Given the description of an element on the screen output the (x, y) to click on. 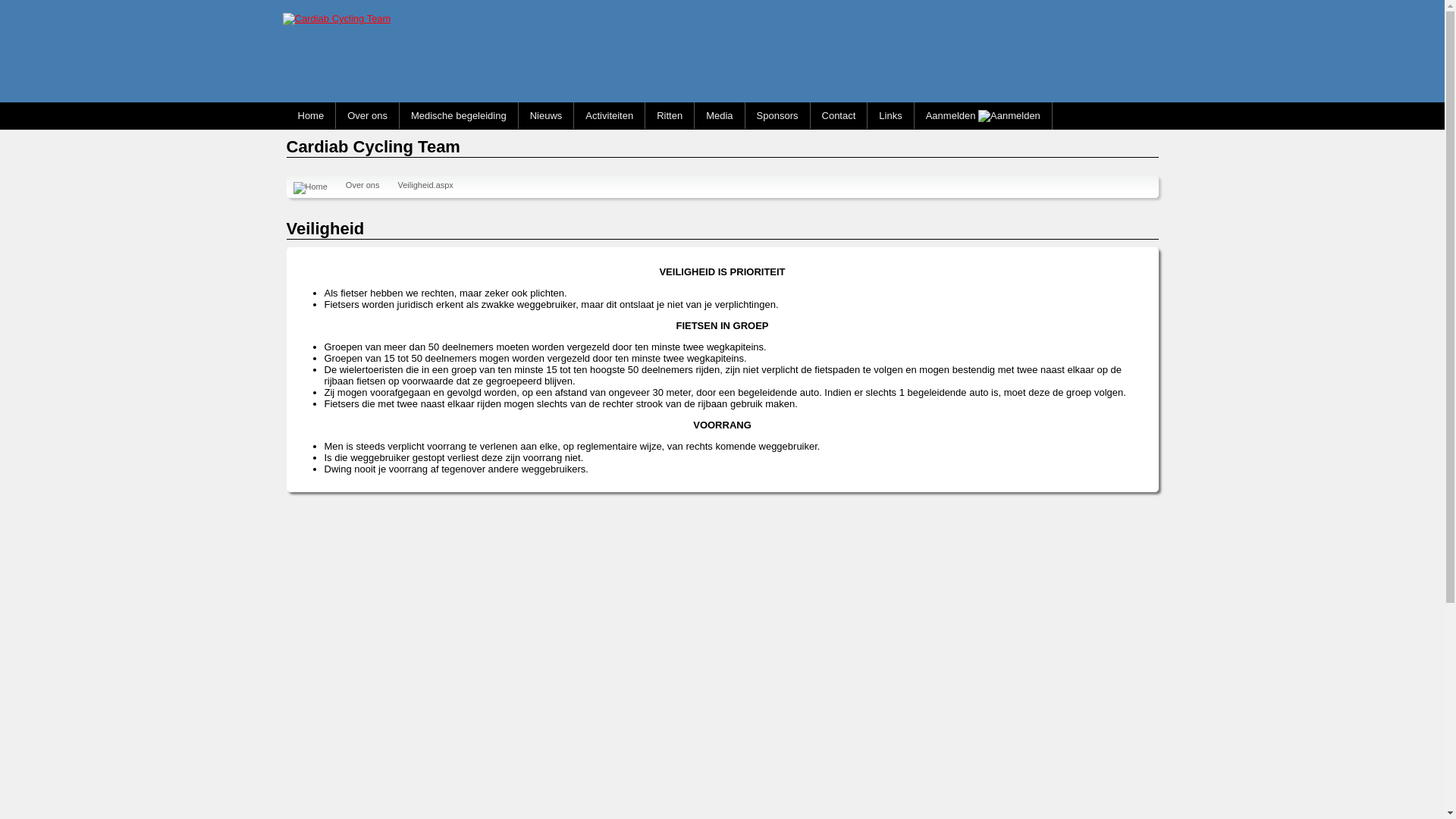
Sponsors Element type: text (777, 115)
Over ons Element type: text (366, 115)
Nieuws Element type: text (546, 115)
Ritten Element type: text (669, 115)
Cardiab Cycling Team Element type: hover (336, 18)
Links Element type: text (890, 115)
Medische begeleiding Element type: text (458, 115)
Home Element type: hover (309, 186)
Media Element type: text (718, 115)
Cardiab Cycling Team Element type: hover (332, 18)
Over ons Element type: text (362, 184)
Activiteiten Element type: text (609, 115)
Aanmelden  Element type: text (982, 115)
Veiligheid.aspx Element type: text (424, 184)
Home Element type: text (310, 115)
Contact Element type: text (838, 115)
Home Element type: hover (309, 188)
